Given the description of an element on the screen output the (x, y) to click on. 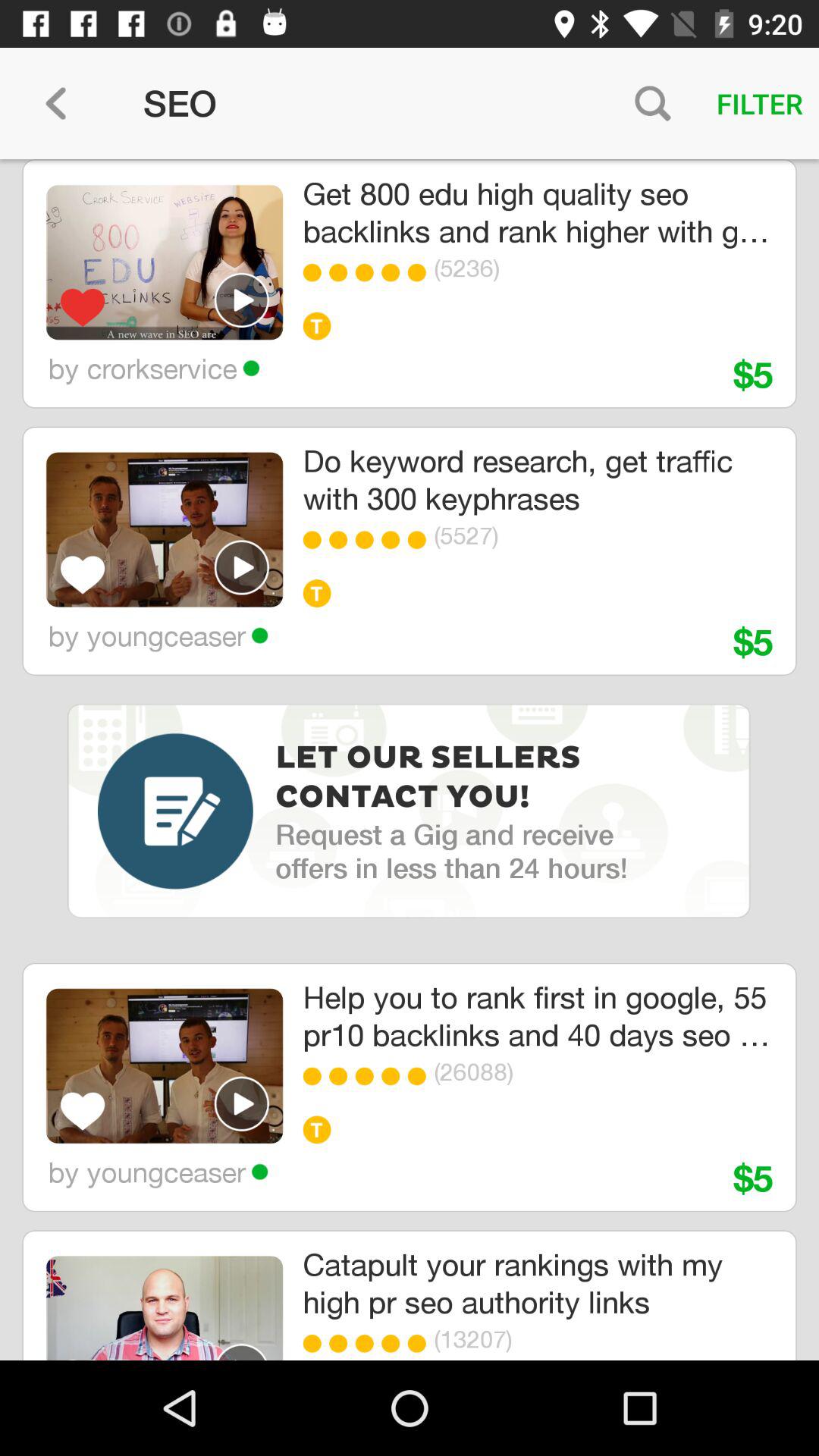
play the video (242, 299)
